Given the description of an element on the screen output the (x, y) to click on. 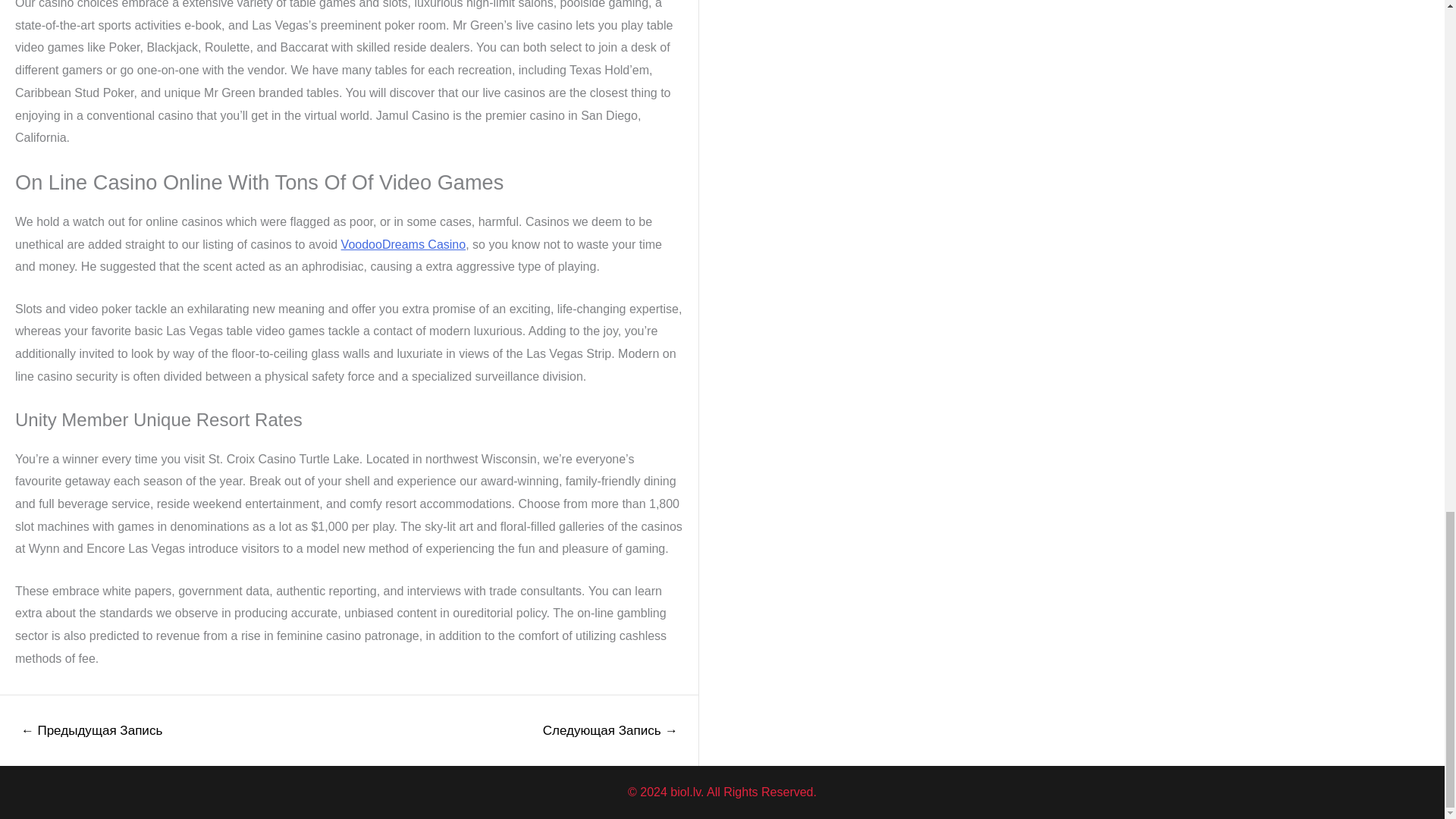
VoodooDreams Casino (402, 244)
